Given the description of an element on the screen output the (x, y) to click on. 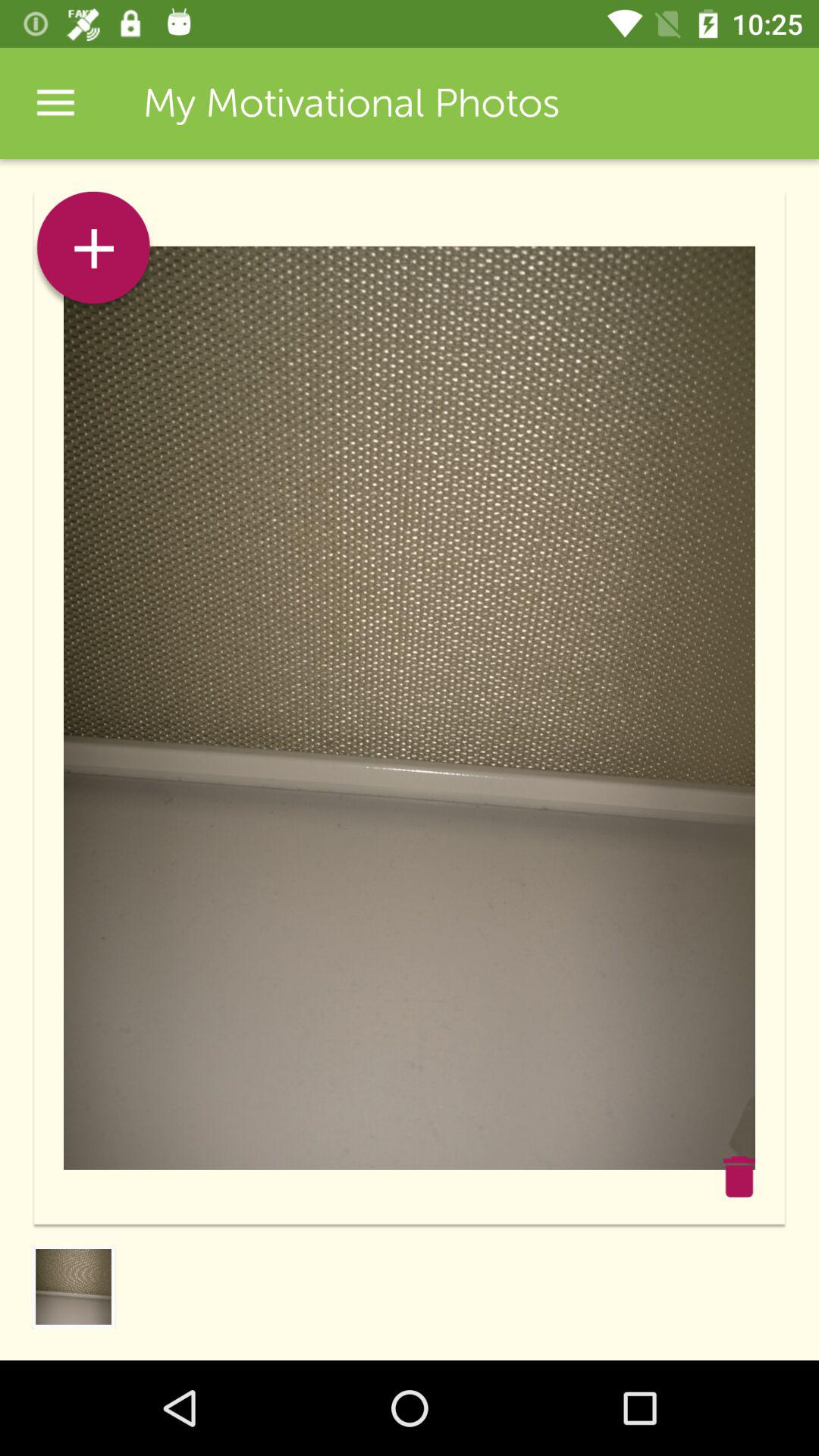
turn on item at the bottom right corner (739, 1176)
